Given the description of an element on the screen output the (x, y) to click on. 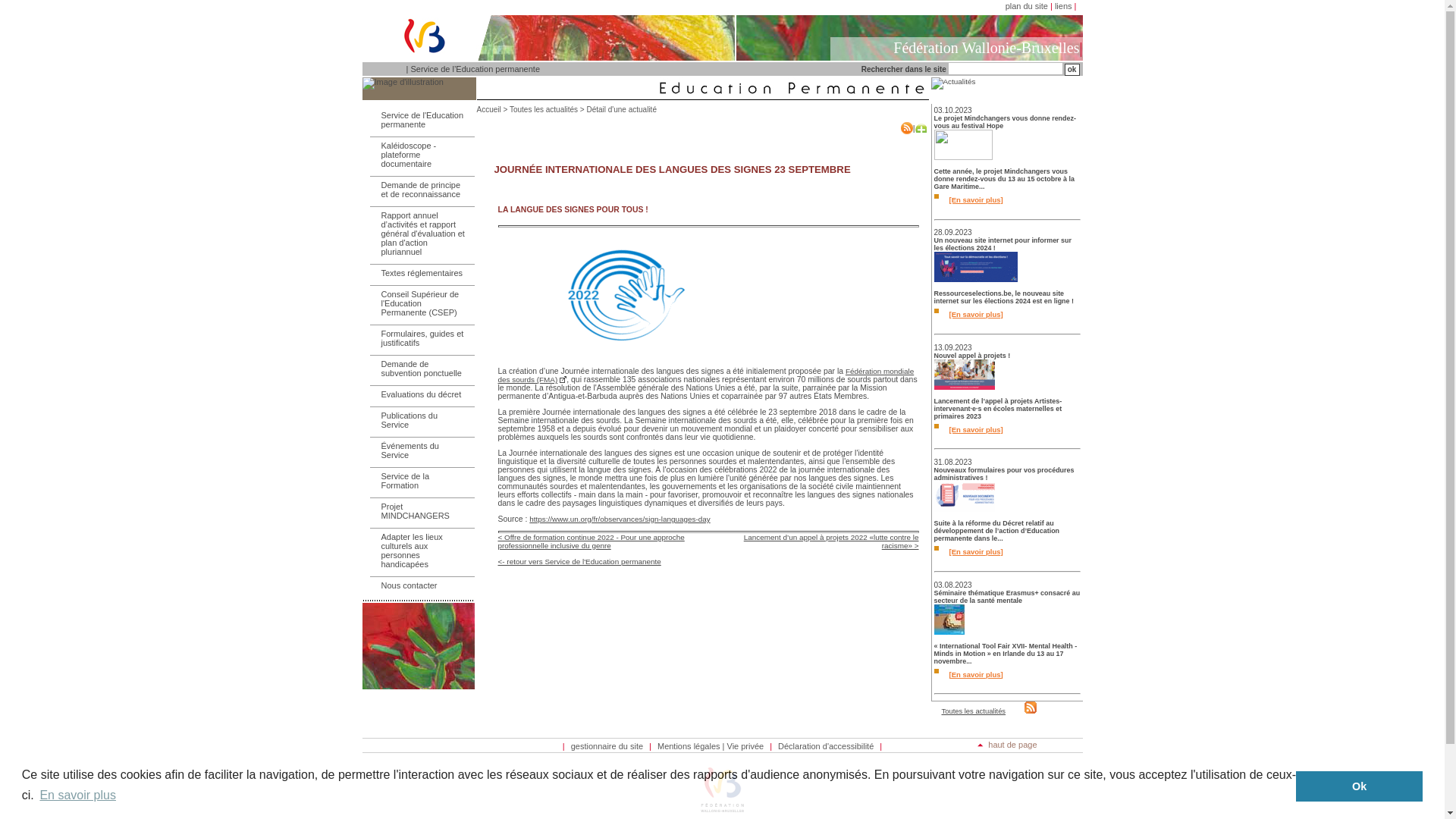
Service de la Formation Element type: text (418, 480)
ok Element type: text (1071, 69)
Image d'illustration Element type: hover (419, 88)
Ok Element type: text (1358, 786)
rechercher Element type: hover (1071, 69)
En savoir plus Element type: text (77, 795)
Demande de subvention ponctuelle Element type: text (418, 368)
[En savoir plus] Element type: text (973, 429)
https://www.un.org/fr/observances/sign-languages-day Element type: text (619, 518)
Publications du Service Element type: text (418, 420)
Plus de choix Element type: hover (919, 127)
[En savoir plus] Element type: text (973, 199)
  Element type: text (1029, 710)
Nous contacter Element type: text (418, 584)
plan du site Element type: text (1026, 5)
liens Element type: text (1063, 5)
Accueil Element type: text (488, 109)
[En savoir plus] Element type: text (973, 314)
haut de page Element type: text (1006, 744)
fils RSS Element type: hover (1030, 707)
Service de l'Education permanente Element type: text (418, 119)
Demande de principe et de reconnaissance Element type: text (418, 189)
[En savoir plus] Element type: text (973, 674)
Projet MINDCHANGERS Element type: text (418, 511)
gestionnaire du site Element type: text (607, 745)
<- retour vers Service de l'Education permanente Element type: text (578, 561)
[En savoir plus] Element type: text (973, 551)
Formulaires, guides et justificatifs Element type: text (418, 338)
